Given the description of an element on the screen output the (x, y) to click on. 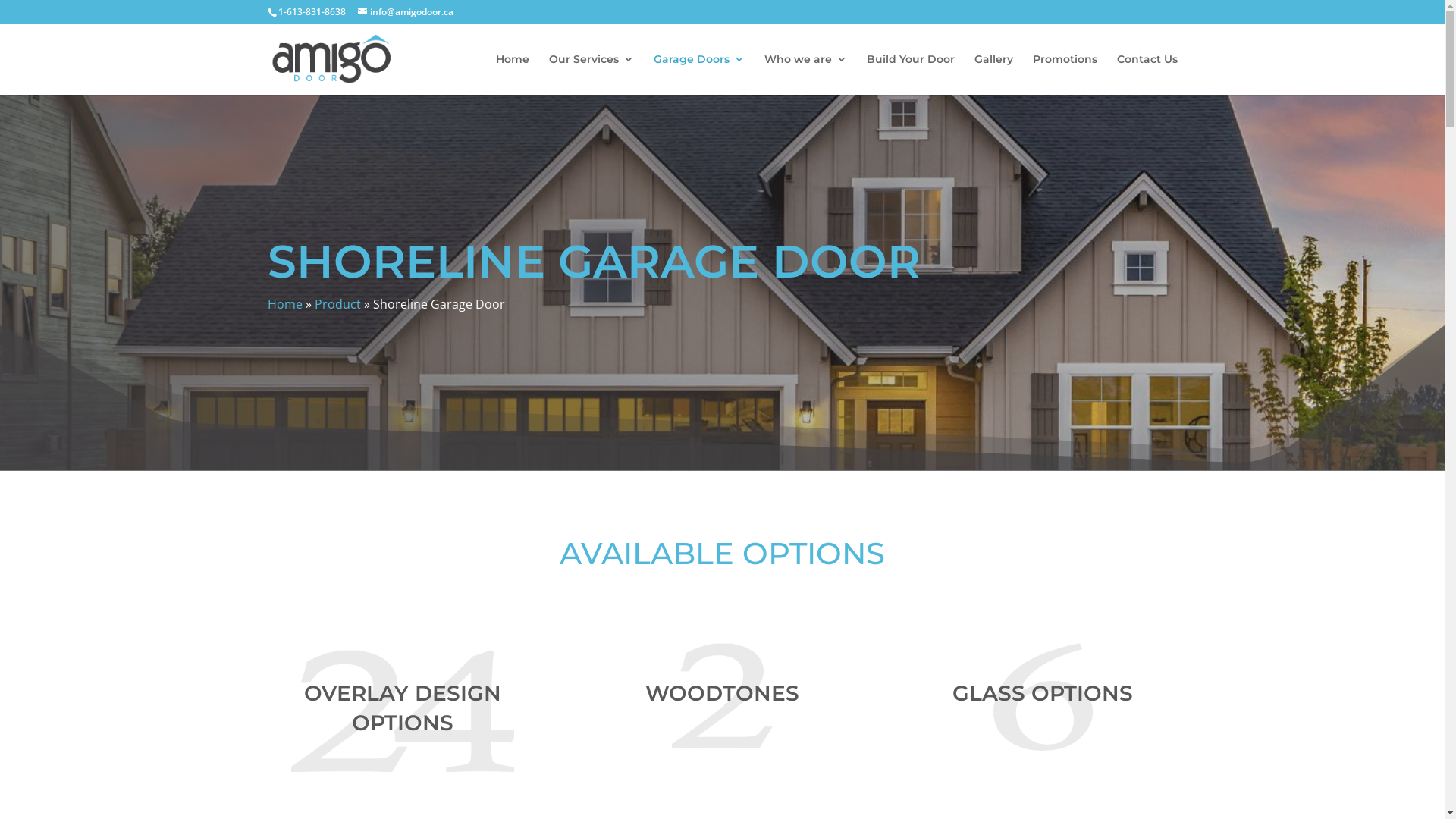
Promotions Element type: text (1064, 73)
Garage Doors Element type: text (698, 73)
Home Element type: text (512, 73)
info@amigodoor.ca Element type: text (405, 11)
Home Element type: text (283, 303)
Gallery Element type: text (992, 73)
Our Services Element type: text (591, 73)
Who we are Element type: text (805, 73)
Product Element type: text (336, 303)
Contact Us Element type: text (1146, 73)
Build Your Door Element type: text (909, 73)
